Given the description of an element on the screen output the (x, y) to click on. 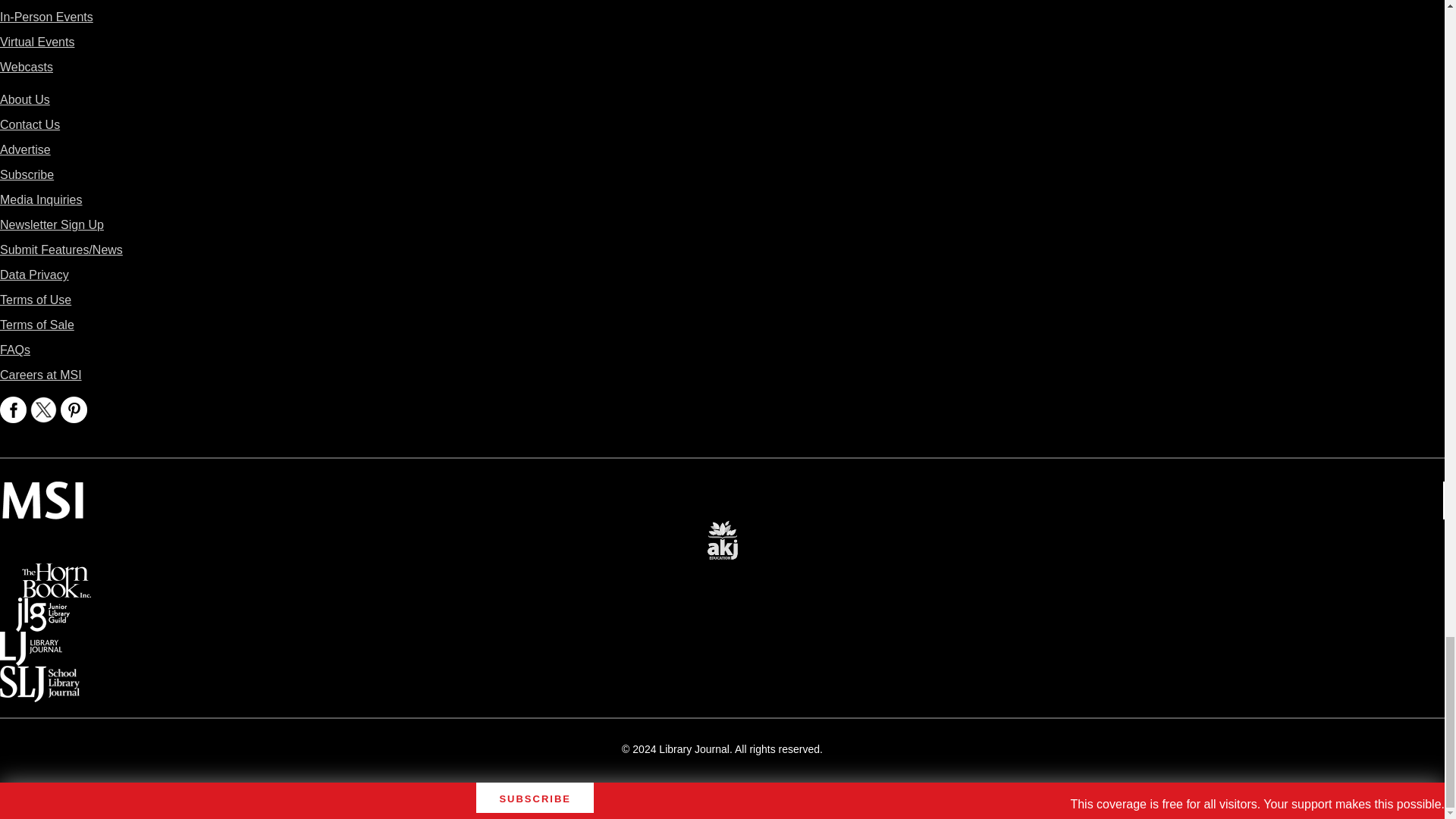
AKJ (722, 529)
Media Source Incorporated (42, 491)
School Library Journal (40, 676)
Junior Library Guild (42, 607)
The Horn Book (56, 573)
